Given the description of an element on the screen output the (x, y) to click on. 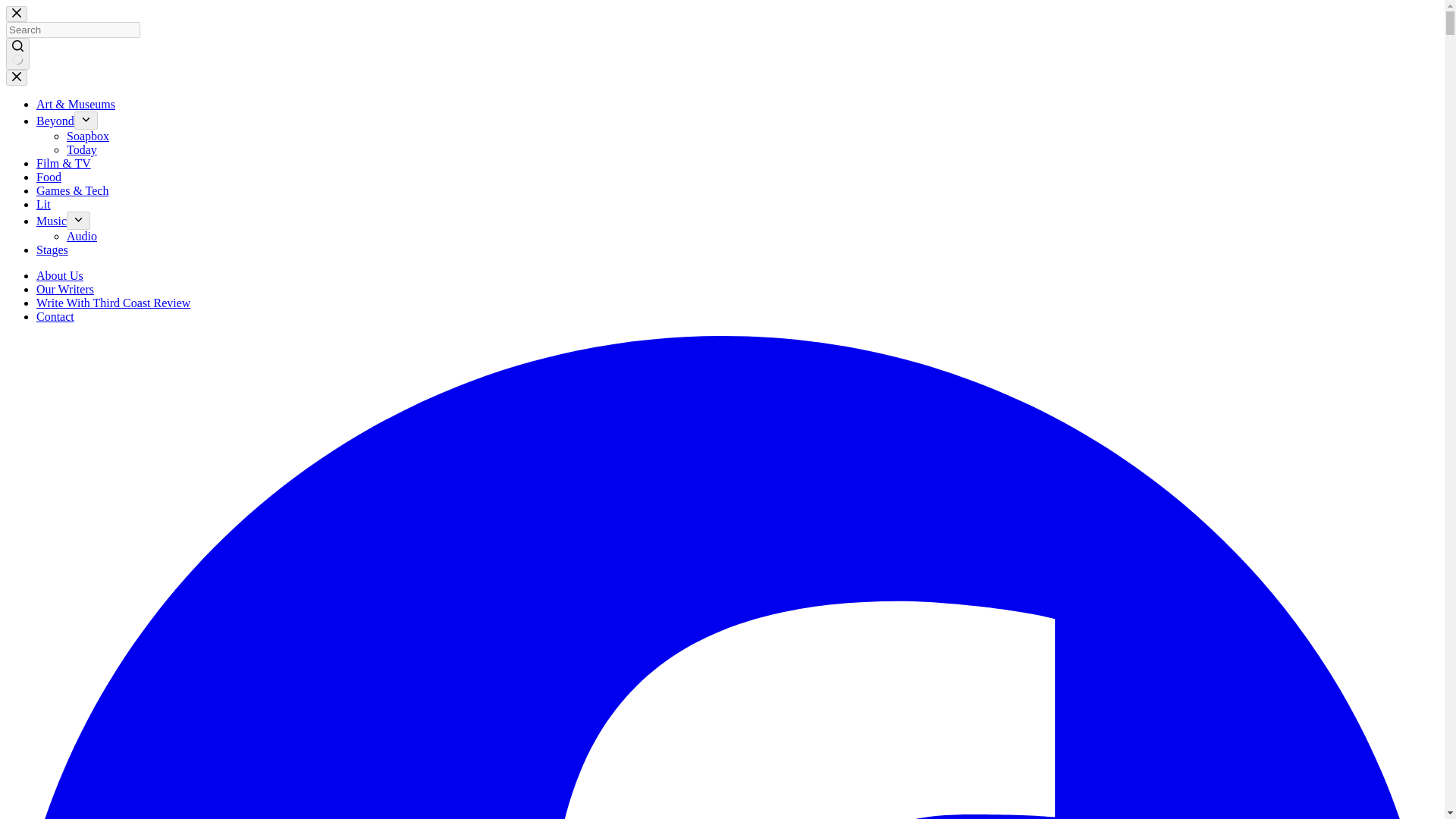
Contact (55, 316)
Music (51, 220)
Lit (43, 204)
Food (48, 176)
Audio (81, 236)
Today (81, 149)
Write With Third Coast Review (113, 302)
Soapbox (87, 135)
Stages (52, 249)
About Us (59, 275)
Beyond (55, 120)
Our Writers (65, 288)
